Given the description of an element on the screen output the (x, y) to click on. 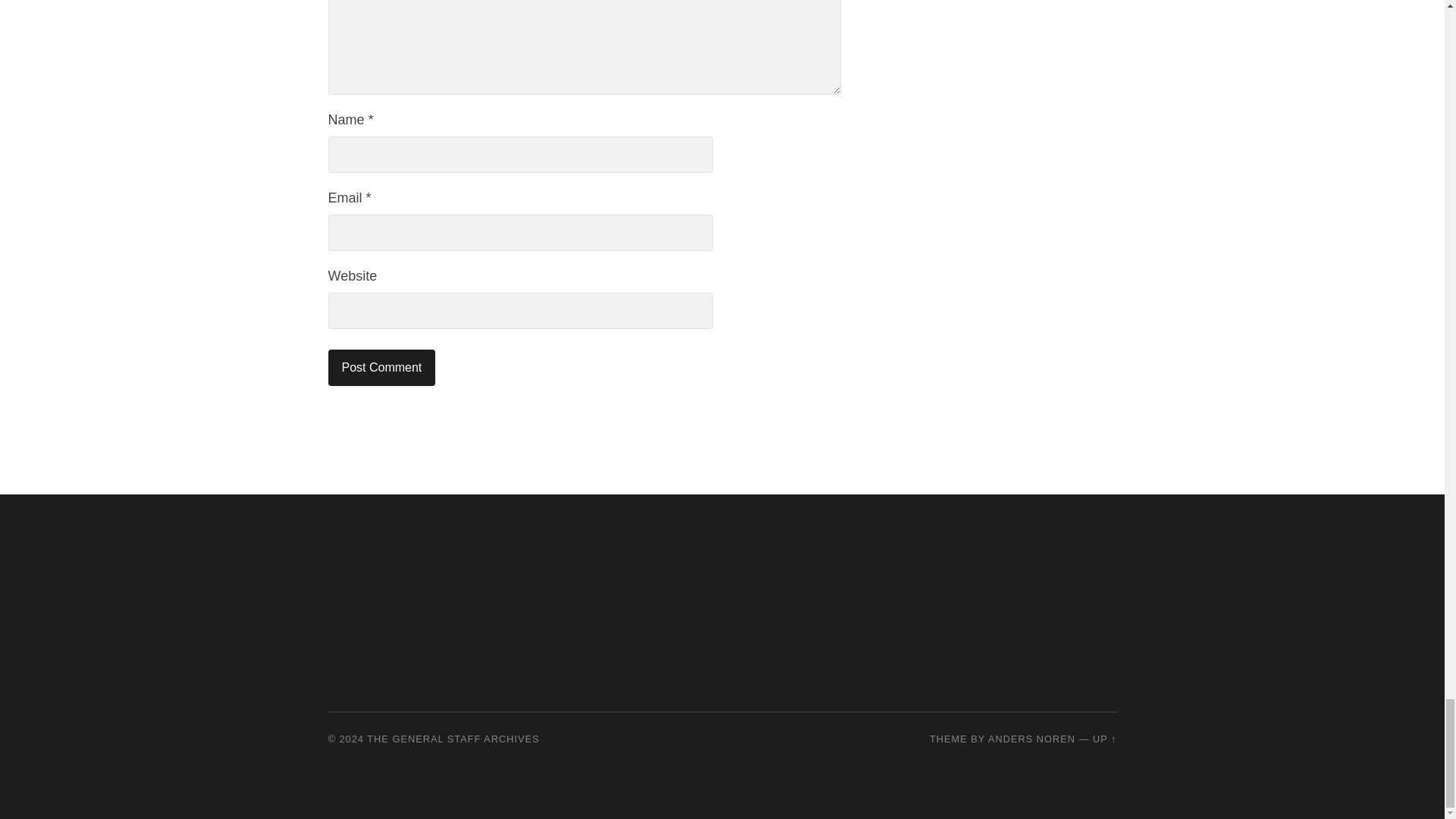
Post Comment (381, 367)
To the top (1104, 738)
